Given the description of an element on the screen output the (x, y) to click on. 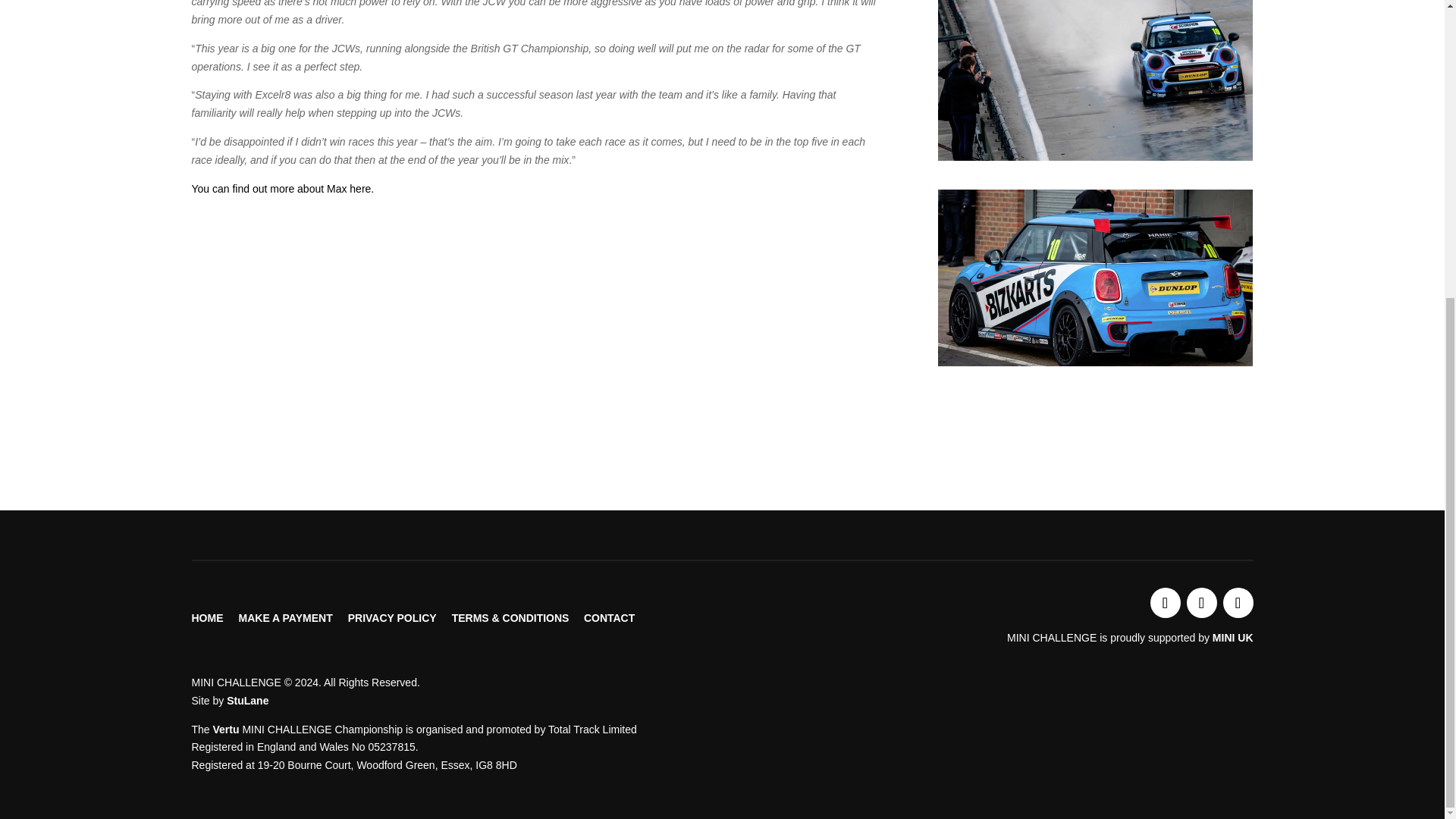
Follow on X (1164, 603)
Follow on Facebook (1200, 603)
Motorsport websites (247, 700)
Follow on Instagram (1237, 603)
